Given the description of an element on the screen output the (x, y) to click on. 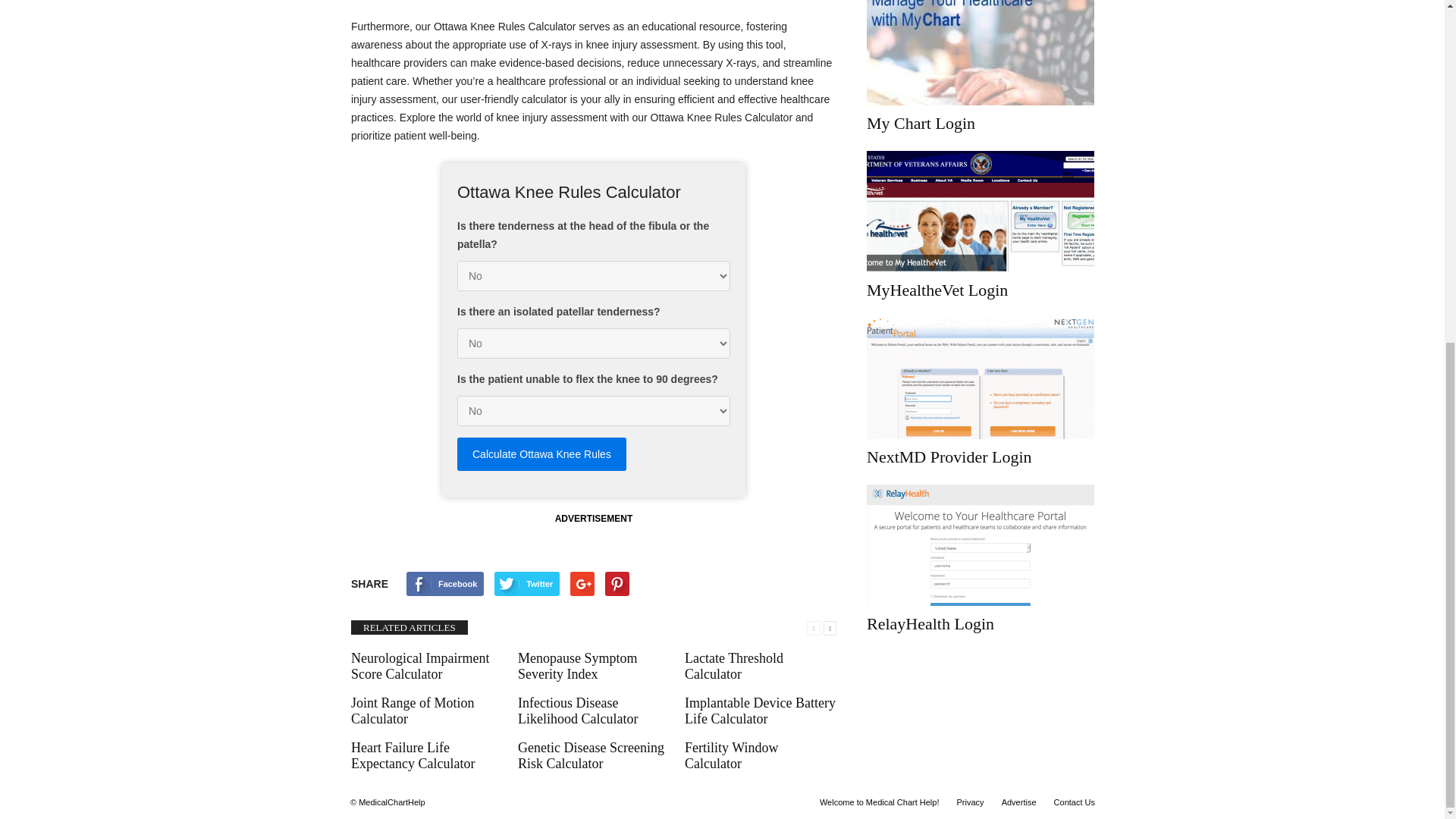
Menopause Symptom Severity Index (577, 665)
Calculate Ottawa Knee Rules (541, 453)
Genetic Disease Screening Risk Calculator (590, 755)
Joint Range of Motion Calculator (412, 710)
Infectious Disease Likelihood Calculator (577, 710)
Lactate Threshold Calculator (733, 665)
Infectious Disease Likelihood Calculator (577, 710)
Facebook (444, 583)
Implantable Device Battery Life Calculator (759, 710)
Fertility Window Calculator (730, 755)
Heart Failure Life Expectancy Calculator (412, 755)
MyHealtheVet Login (980, 210)
My Chart Login (980, 52)
Fertility Window Calculator (730, 755)
Twitter (527, 583)
